Given the description of an element on the screen output the (x, y) to click on. 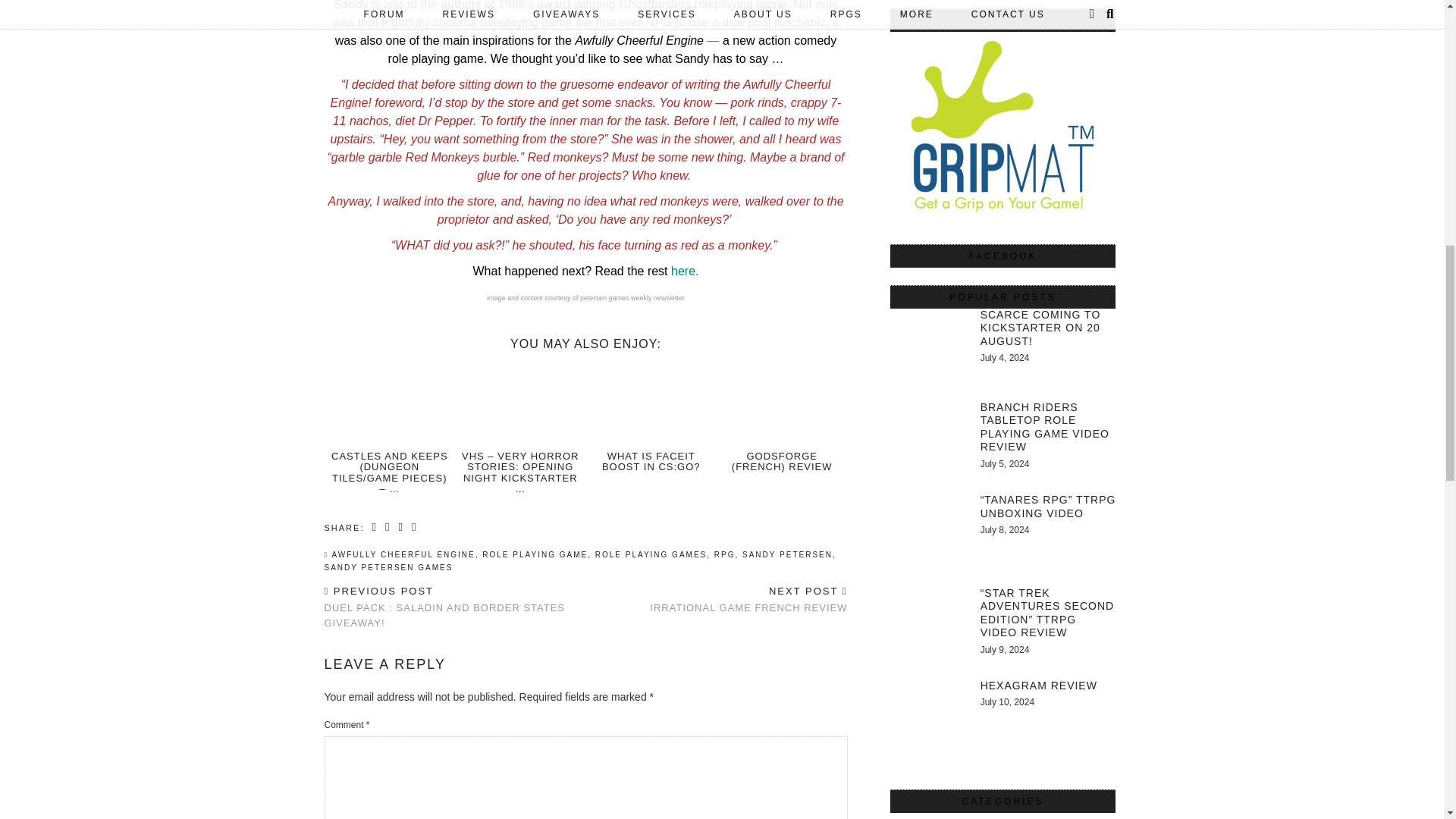
What Is FACEIT Boost in CS:GO? (651, 404)
What Is FACEIT Boost in CS:GO? (651, 461)
